Given the description of an element on the screen output the (x, y) to click on. 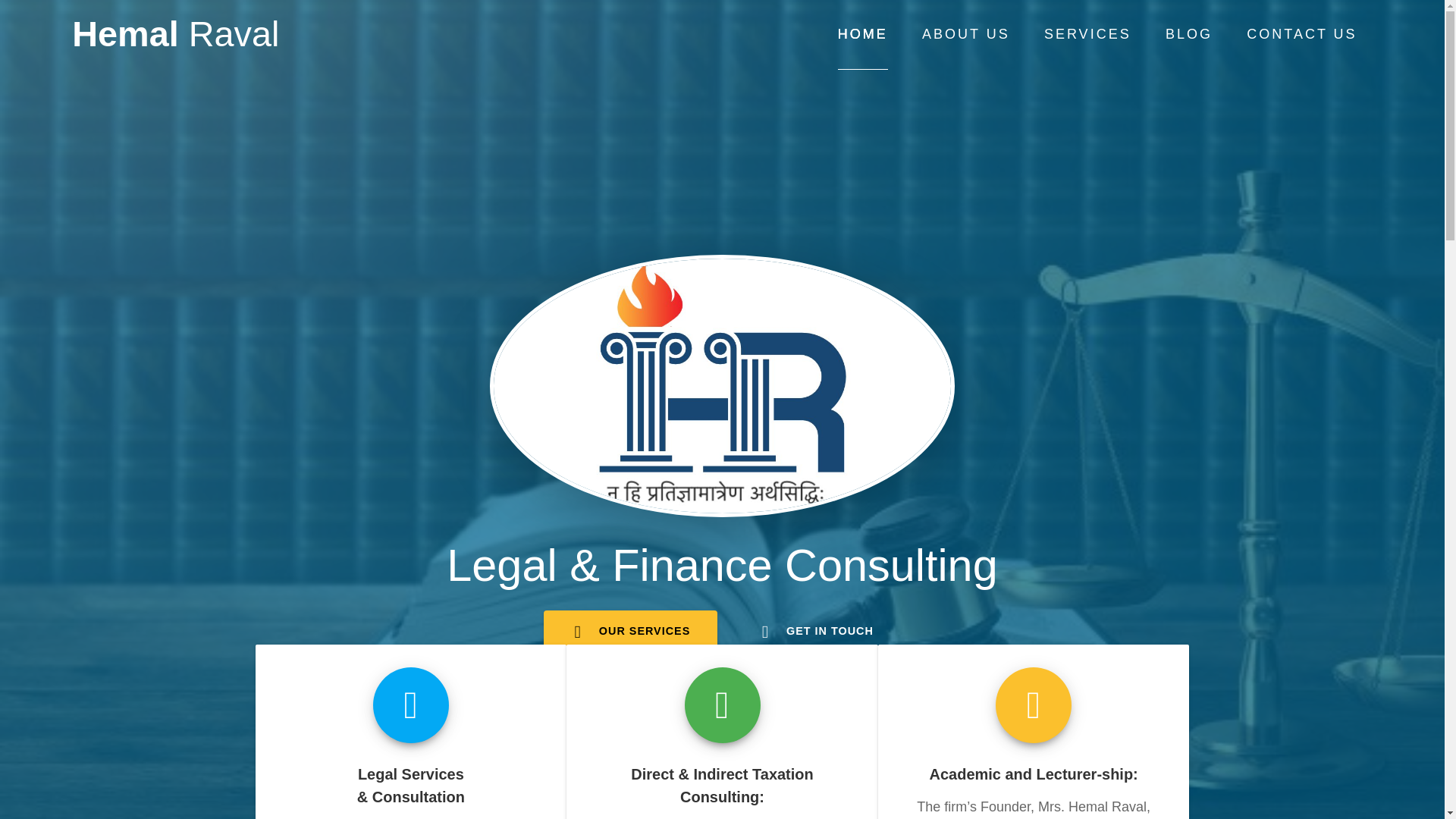
CONTACT US (1301, 34)
ABOUT US (965, 34)
GET IN TOUCH (815, 630)
OUR SERVICES (630, 630)
Hemal Raval (175, 34)
SERVICES (1087, 34)
